Given the description of an element on the screen output the (x, y) to click on. 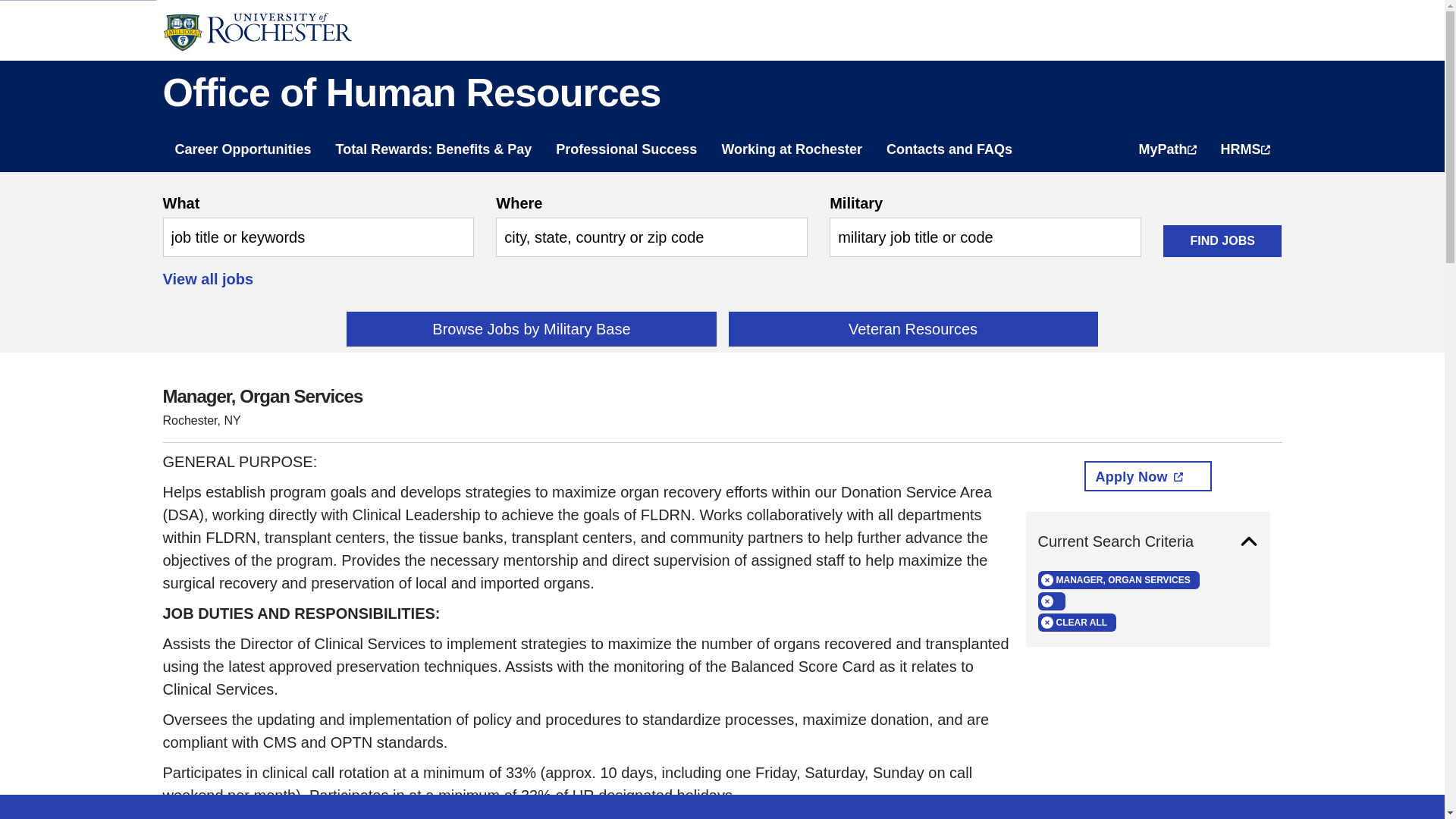
Working at Rochester (790, 143)
Veteran Resources (912, 329)
Professional Success (626, 143)
Contacts and FAQs (948, 143)
FIND JOBS (1222, 241)
HRMS (1245, 143)
MyPath (1166, 143)
Career Opportunities (242, 143)
Browse Jobs by Military Base (531, 329)
View all jobs (207, 278)
Office of Human Resources (721, 92)
CLEAR ALL (1076, 622)
MANAGER, ORGAN SERVICES (1117, 579)
Apply Now (1147, 476)
